Given the description of an element on the screen output the (x, y) to click on. 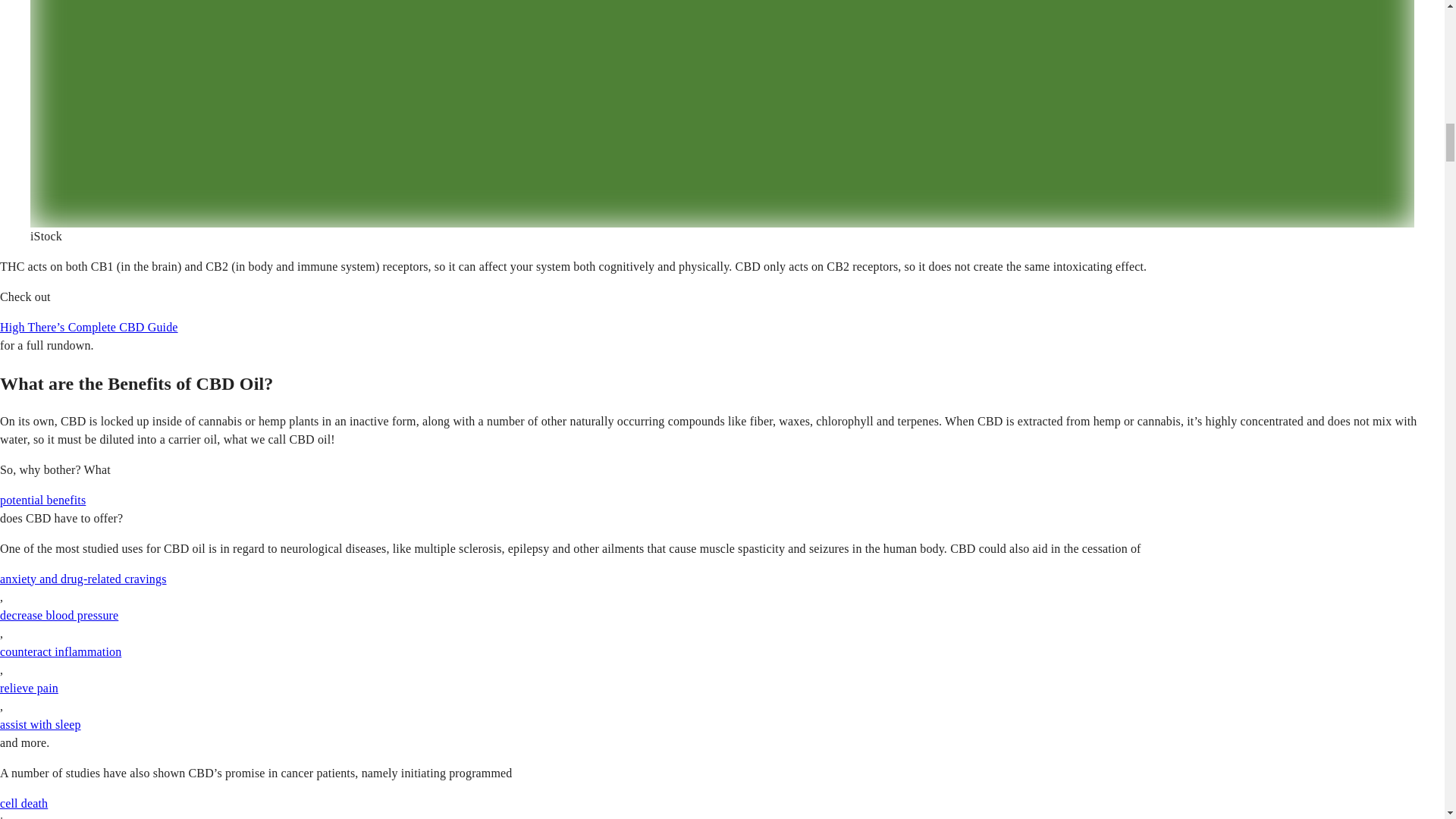
relieve pain (29, 687)
decrease blood pressure (58, 615)
counteract inflammation (60, 651)
assist with sleep (40, 724)
cell death (24, 802)
anxiety and drug-related cravings (83, 578)
potential benefits (42, 499)
